Given the description of an element on the screen output the (x, y) to click on. 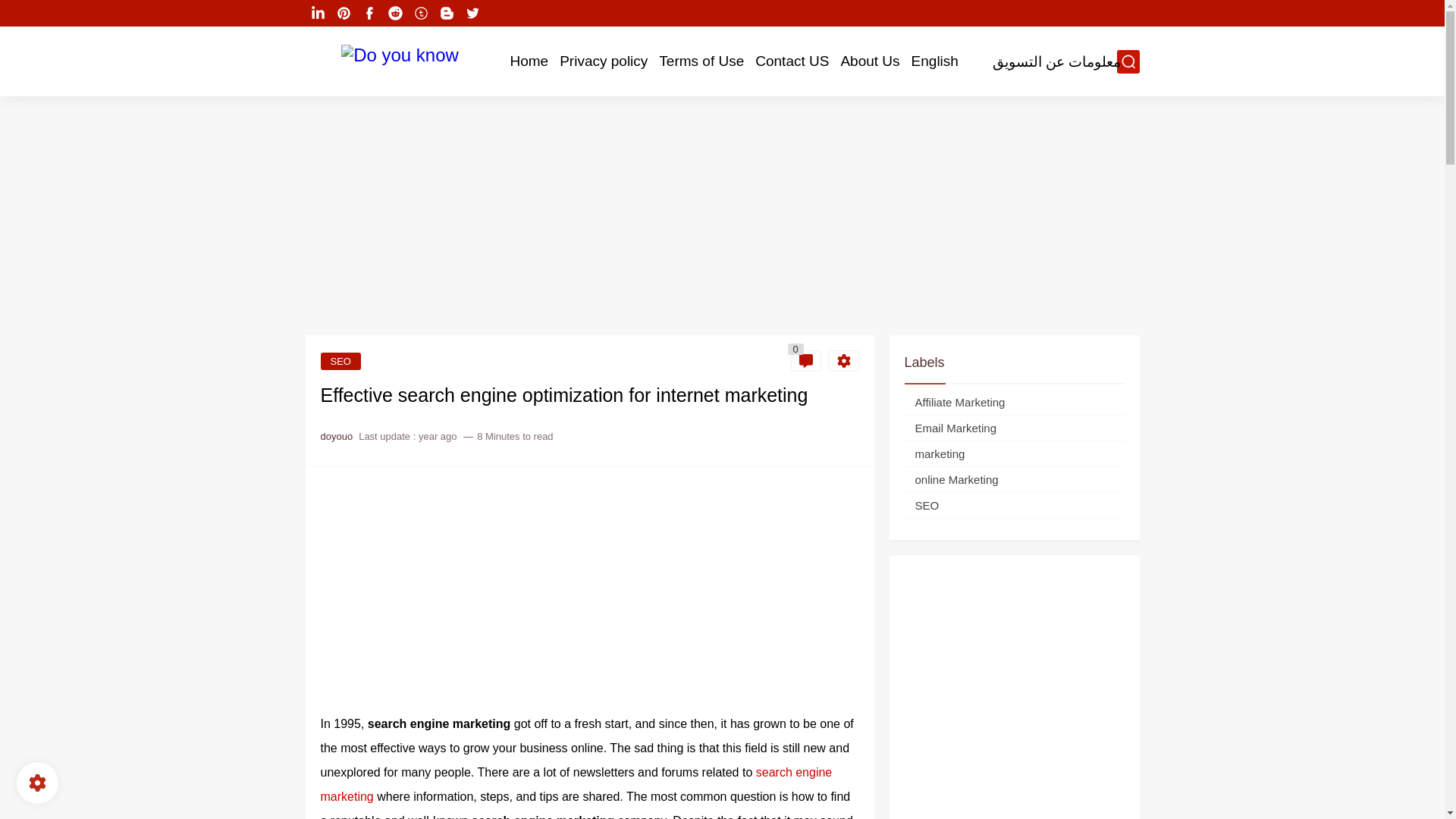
Privacy policy (603, 60)
Home (528, 60)
SEO (339, 360)
English (934, 60)
Contact US (791, 60)
pinterest (343, 13)
Privacy policy (603, 60)
About Us (869, 60)
blogger (447, 13)
news google (498, 13)
linkedin (317, 13)
Contact US (791, 60)
Terms of Use (701, 60)
Home (528, 60)
reddit (395, 13)
